Given the description of an element on the screen output the (x, y) to click on. 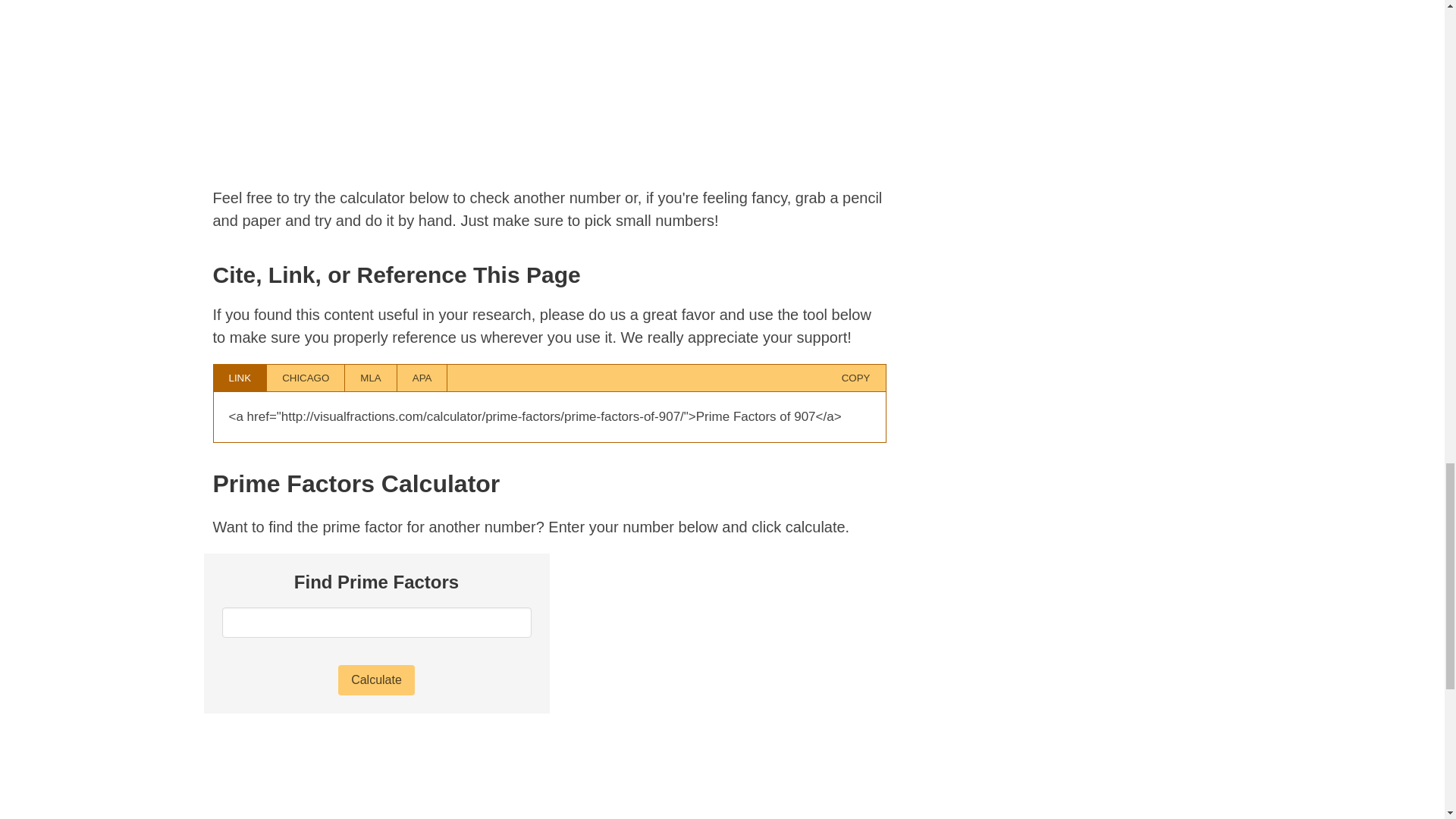
Calculate (375, 680)
